Given the description of an element on the screen output the (x, y) to click on. 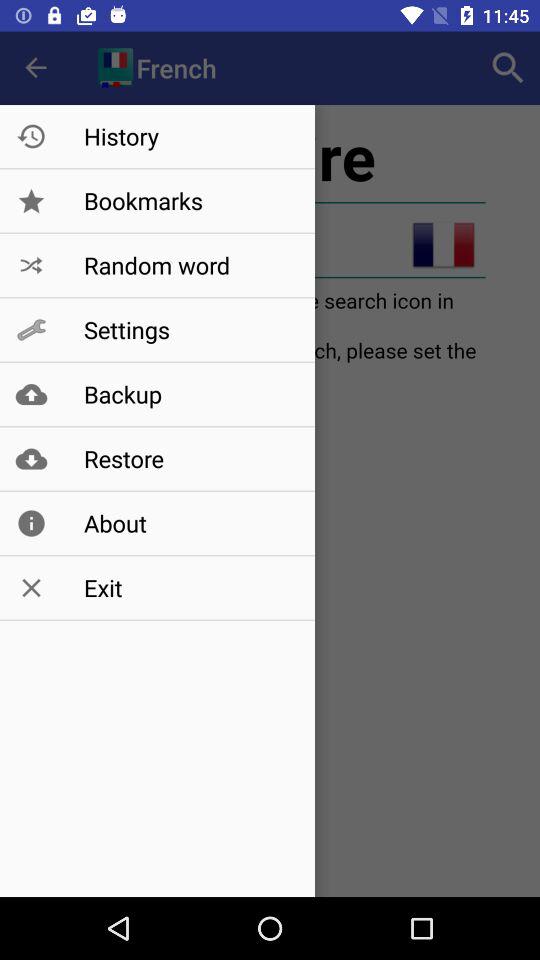
open item next to history item (508, 67)
